Given the description of an element on the screen output the (x, y) to click on. 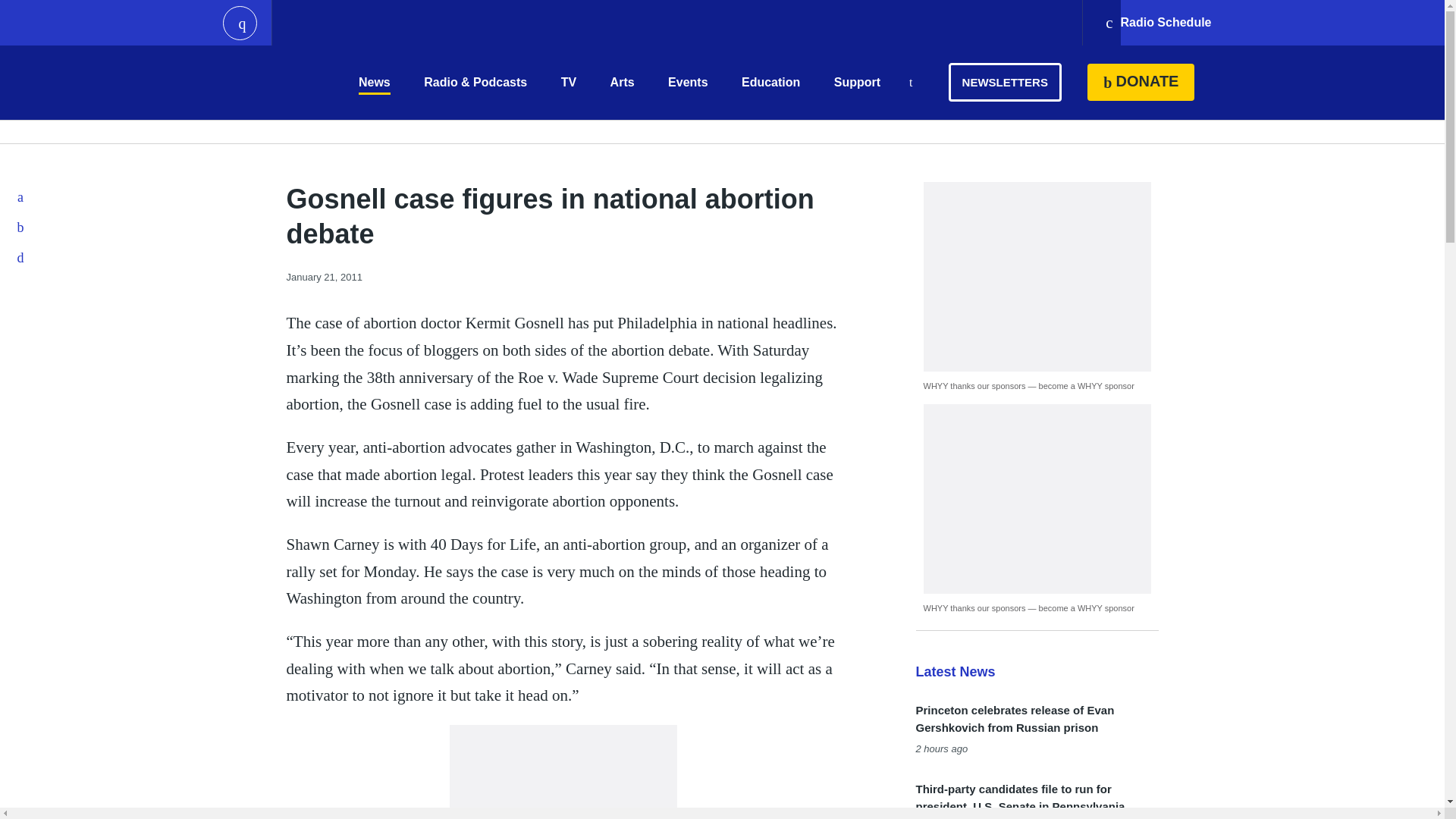
Twitter (21, 227)
Radio Schedule (1157, 22)
Twitter (21, 227)
WHYY (266, 82)
Facebook (21, 196)
Email (21, 257)
Search (910, 83)
Email (21, 257)
Facebook (21, 196)
